Given the description of an element on the screen output the (x, y) to click on. 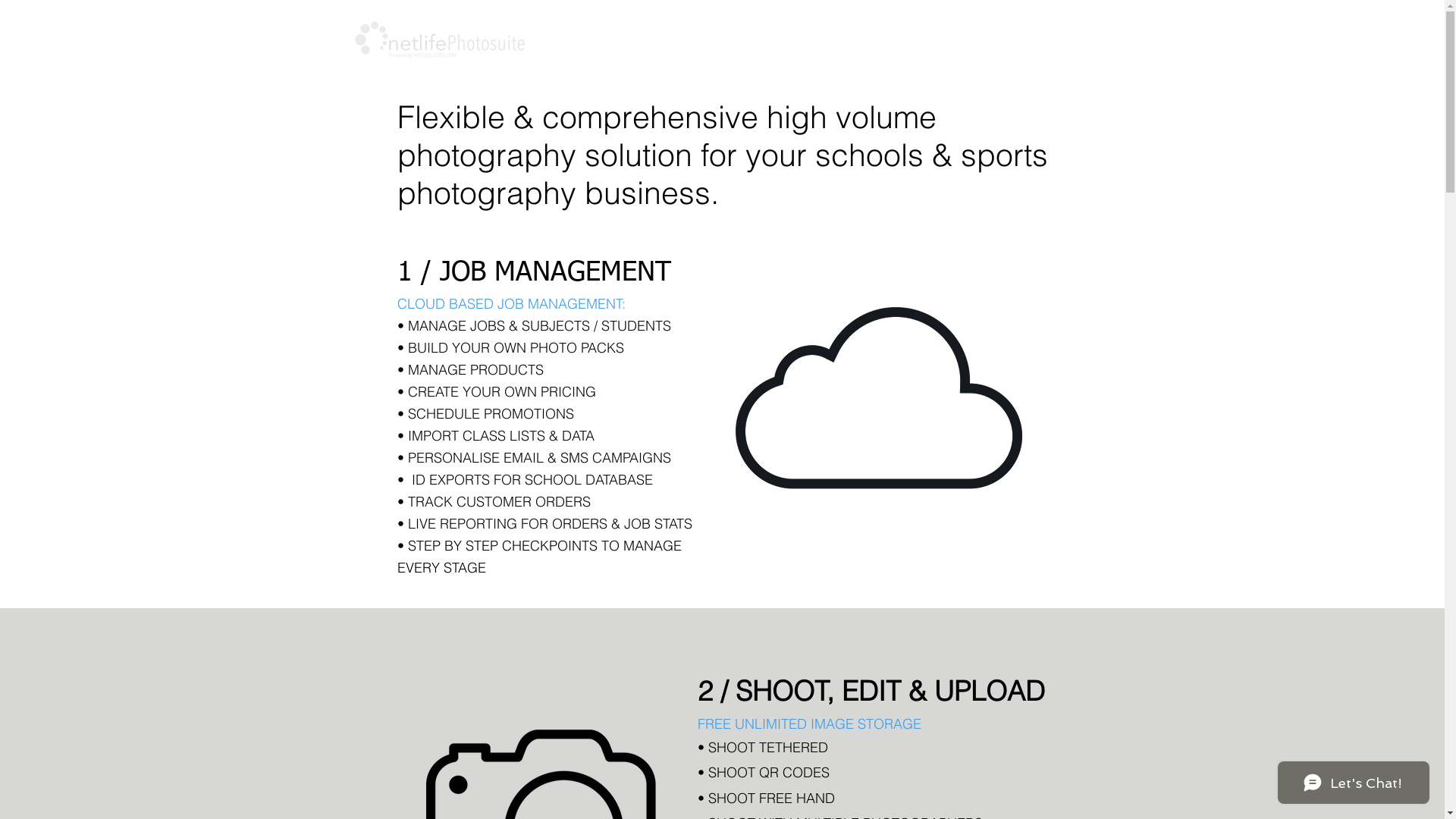
FREE RESOURCES Element type: text (991, 46)
HVP SOLUTIONS Element type: text (838, 46)
HOME Element type: text (717, 46)
